Given the description of an element on the screen output the (x, y) to click on. 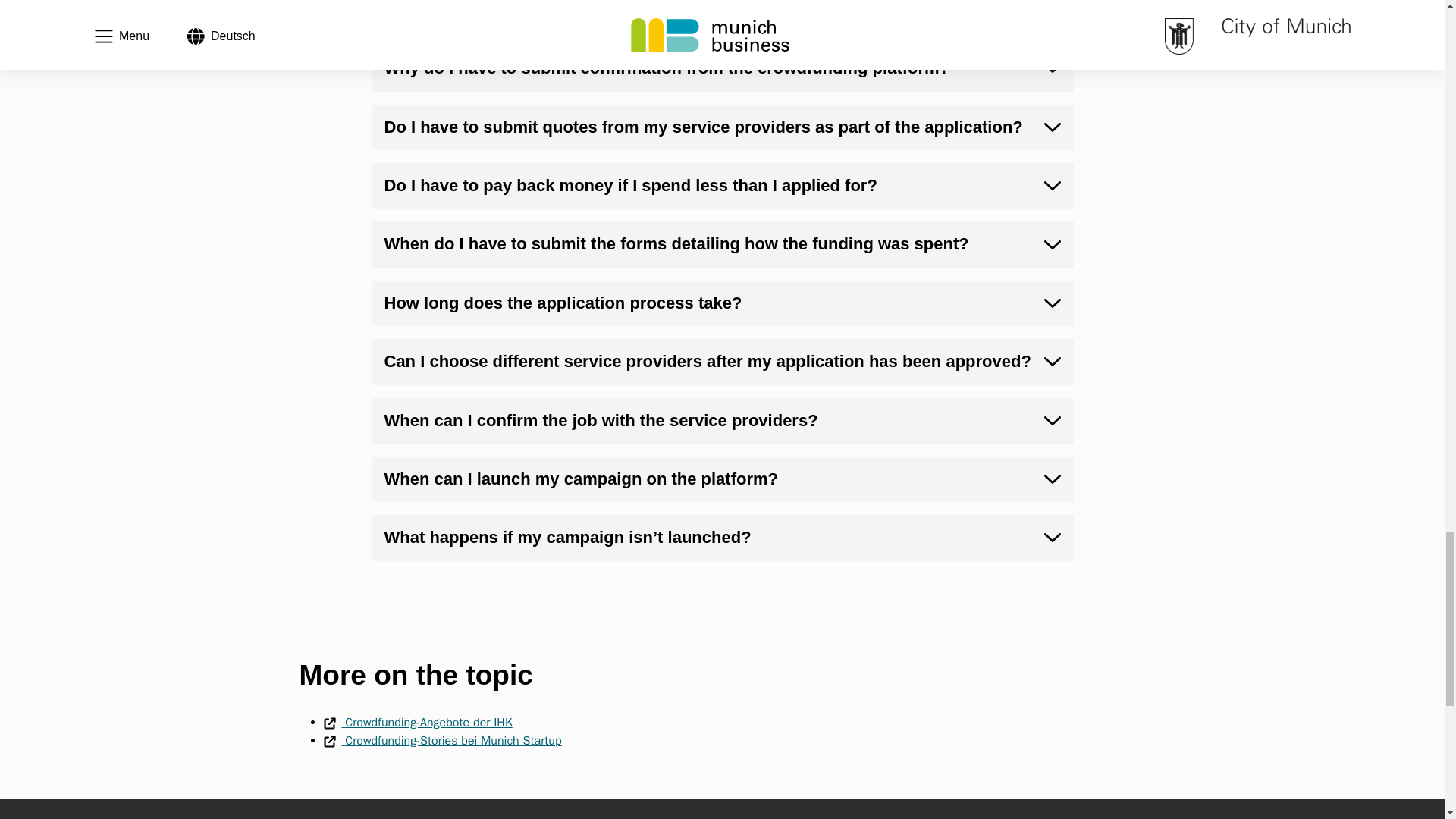
Crowdfunding-Angebote der IHK (417, 722)
Crowdfunding-Stories bei Munich Startup (441, 740)
